Given the description of an element on the screen output the (x, y) to click on. 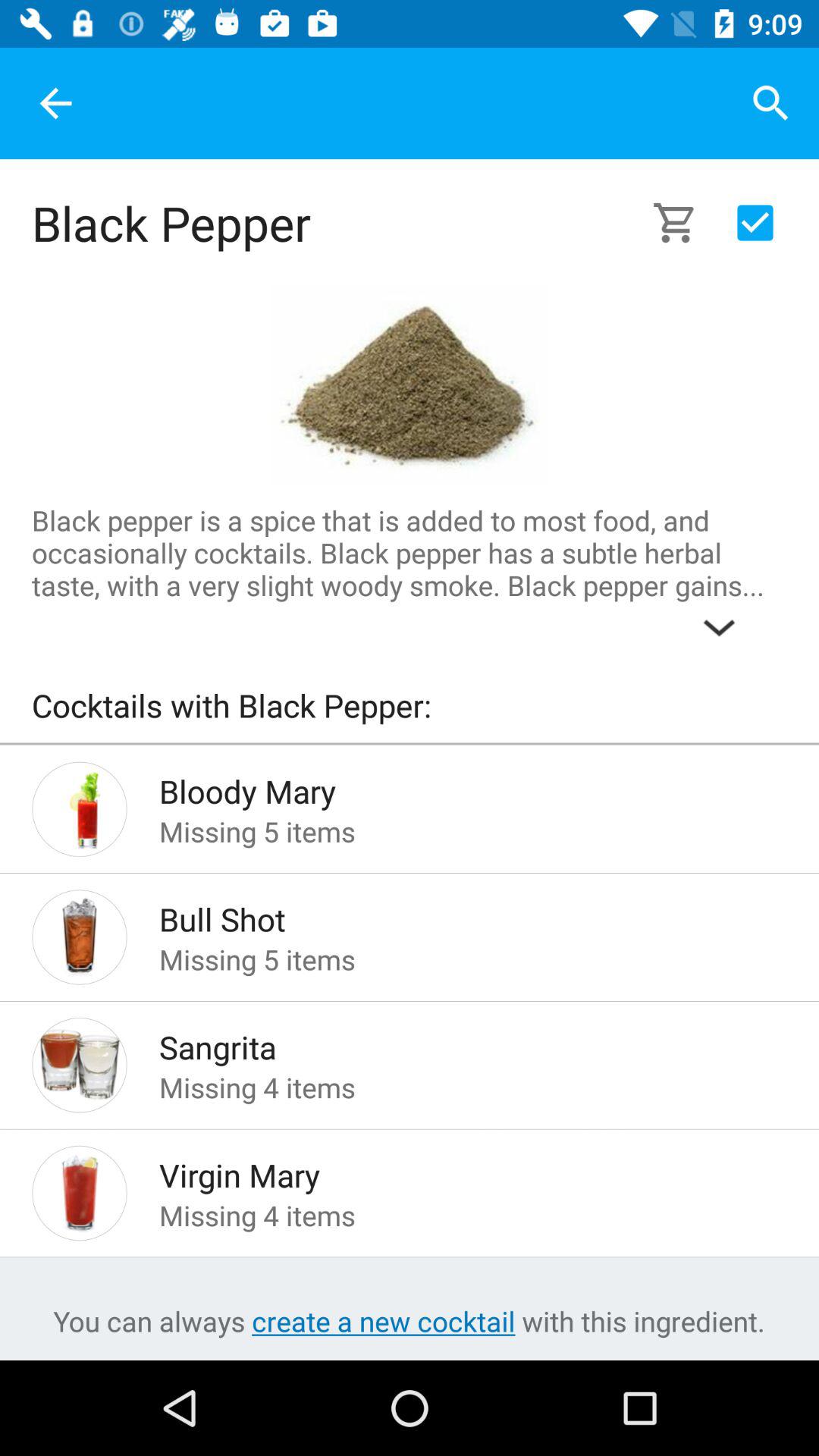
scroll until the you can always (408, 1320)
